Given the description of an element on the screen output the (x, y) to click on. 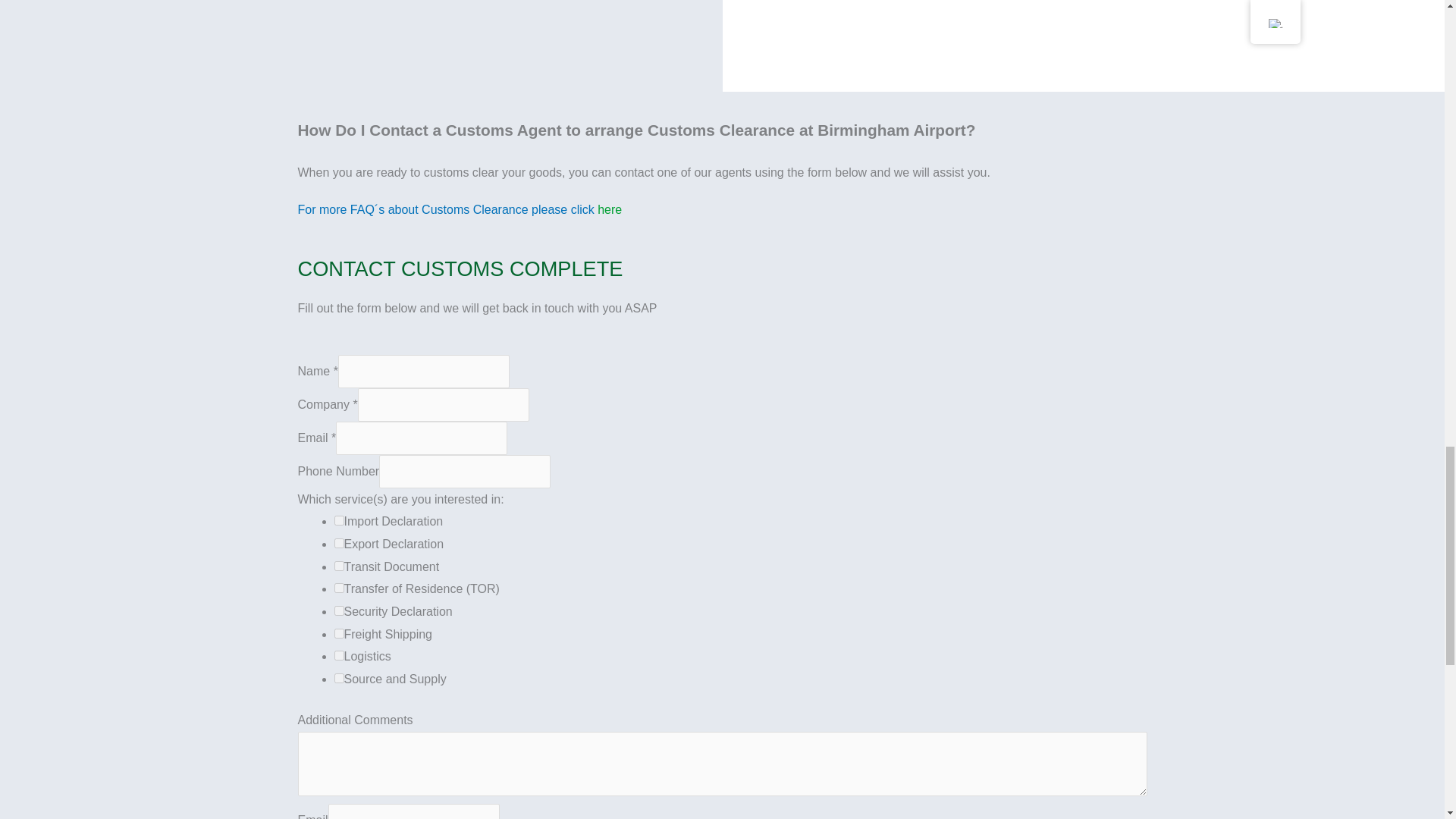
Freight Shipping (338, 633)
Security Declaration (338, 610)
Export Declaration (338, 542)
Logistics (338, 655)
Import Declaration (338, 520)
Transit Document (338, 565)
Source and Supply (338, 678)
